Given the description of an element on the screen output the (x, y) to click on. 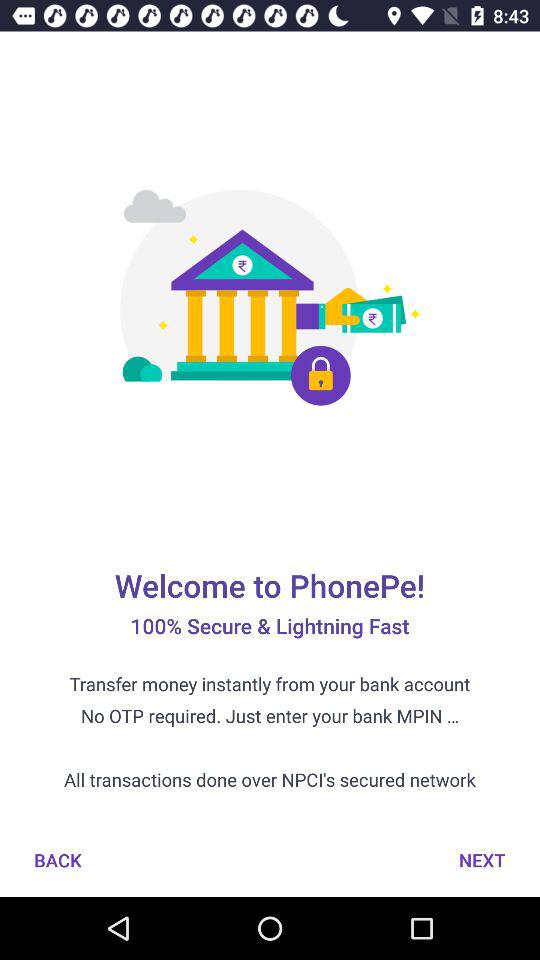
scroll to the back icon (57, 859)
